Given the description of an element on the screen output the (x, y) to click on. 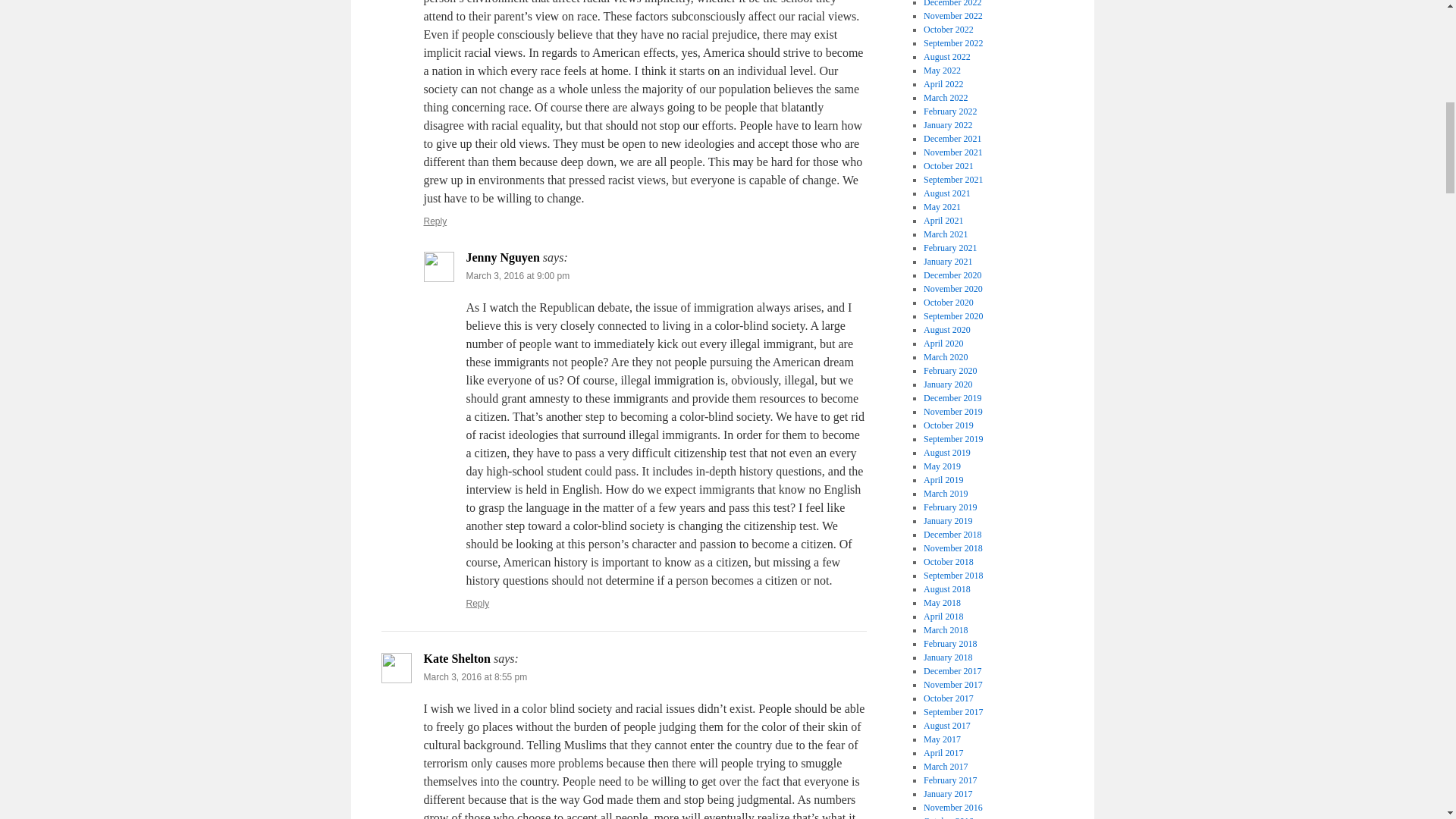
Reply (434, 221)
March 3, 2016 at 9:00 pm (517, 276)
March 3, 2016 at 8:55 pm (475, 676)
Reply (477, 603)
